Given the description of an element on the screen output the (x, y) to click on. 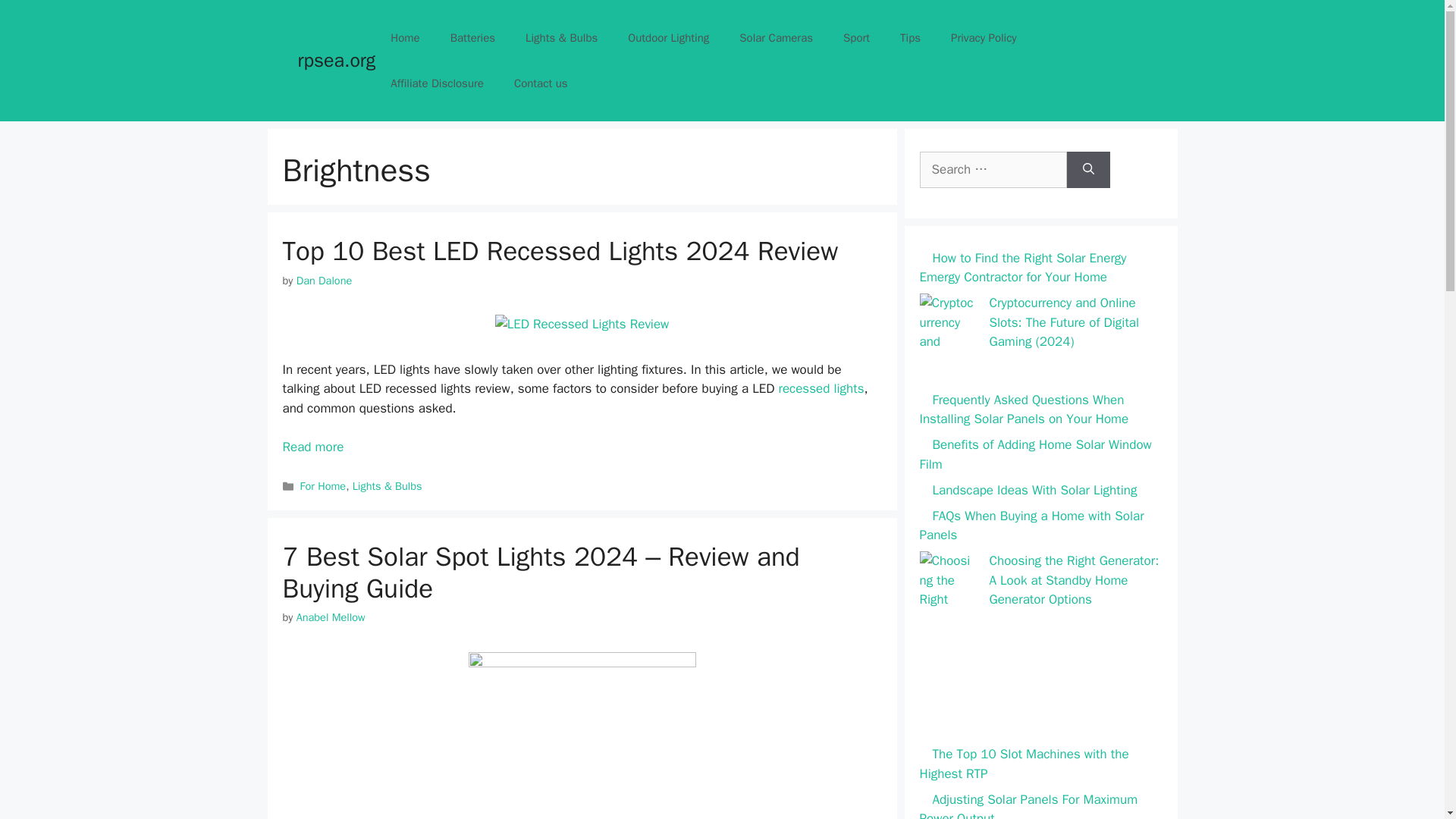
Anabel Mellow (331, 617)
Search for: (991, 169)
View all posts by Dan Dalone (324, 280)
Top 10 Best LED Recessed Lights 2024 Review (560, 250)
Solar Cameras (775, 37)
For Home (322, 486)
Affiliate Disclosure (437, 83)
Batteries (473, 37)
Sport (856, 37)
Privacy Policy (984, 37)
Read more (312, 446)
Tips (910, 37)
Top 10 Best LED Recessed Lights 2024 Review (312, 446)
Outdoor Lighting (667, 37)
